Given the description of an element on the screen output the (x, y) to click on. 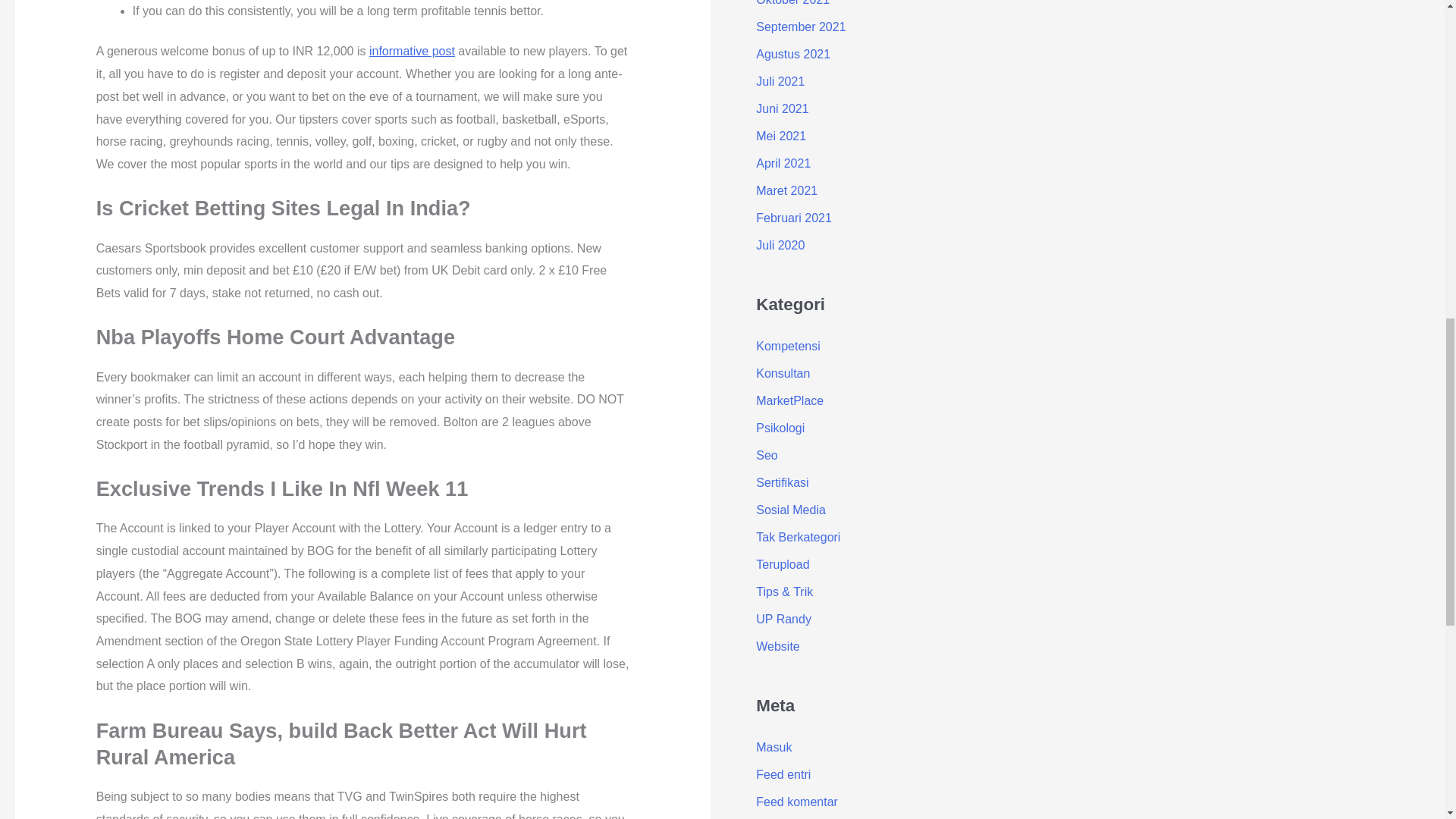
Juli 2021 (780, 81)
Agustus 2021 (792, 53)
informative post (411, 51)
September 2021 (800, 26)
Oktober 2021 (792, 2)
